Given the description of an element on the screen output the (x, y) to click on. 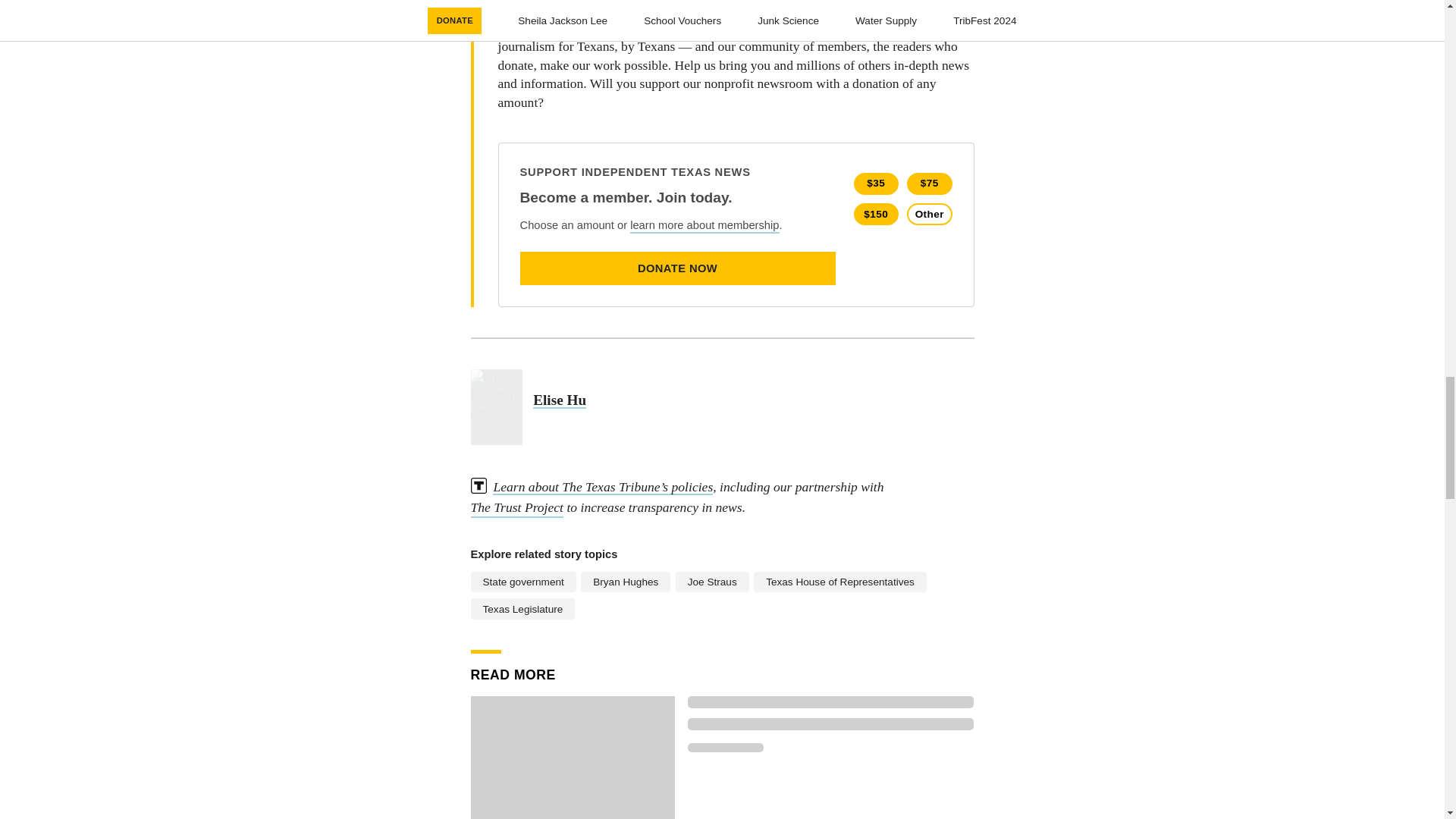
Loading indicator (830, 724)
Loading indicator (724, 747)
Loading indicator (830, 702)
